Given the description of an element on the screen output the (x, y) to click on. 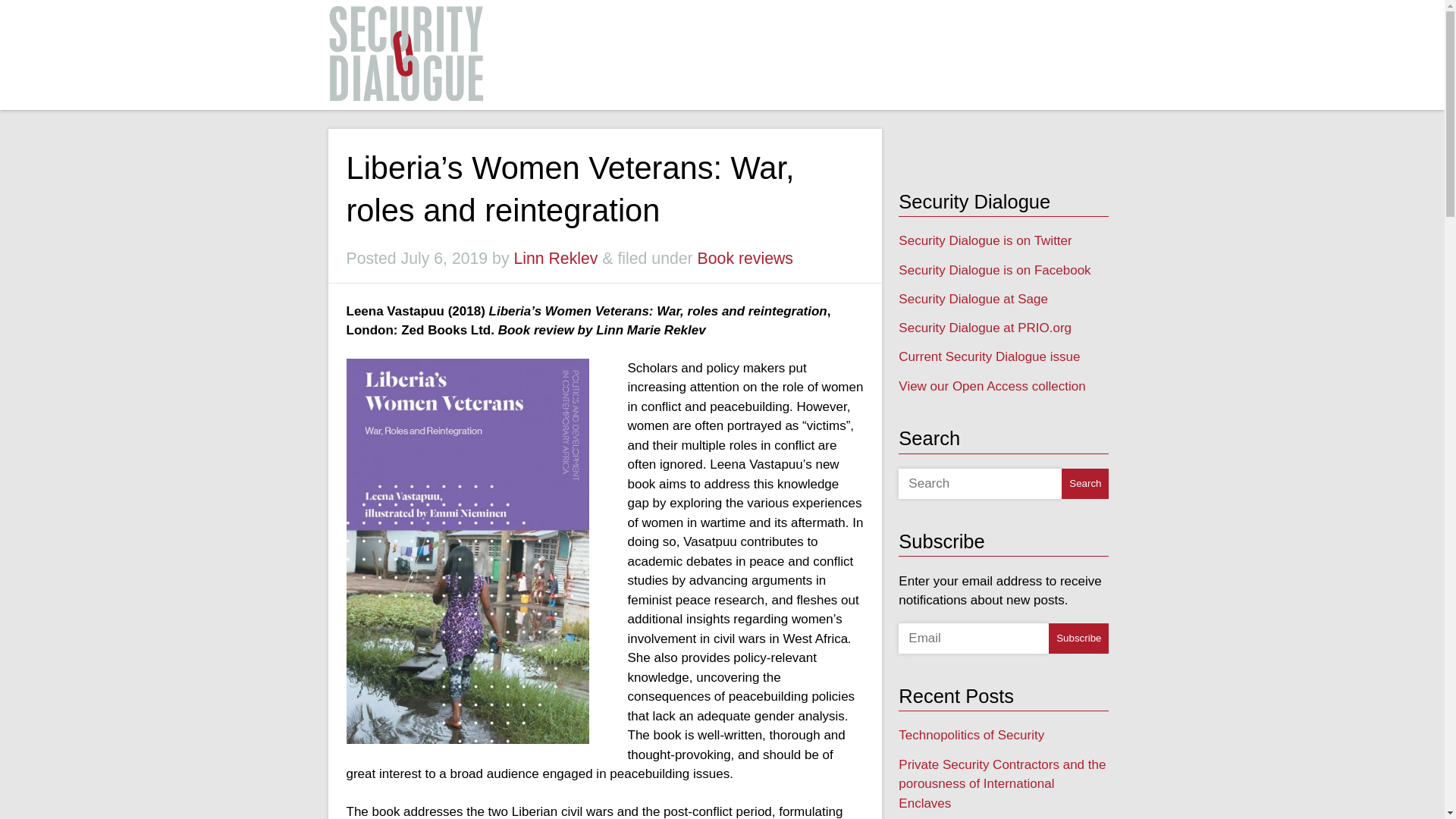
View our Open Access collection (991, 386)
Subscribe (1078, 638)
Posts by Linn Reklev (554, 258)
Linn Reklev (554, 258)
Security Dialogue is on Facebook (994, 269)
Technopolitics of Security (970, 735)
Security Dialogue at PRIO.org (984, 327)
Security Dialogue is on Twitter (984, 240)
Technopolitics of Security (970, 735)
Email (973, 638)
